Given the description of an element on the screen output the (x, y) to click on. 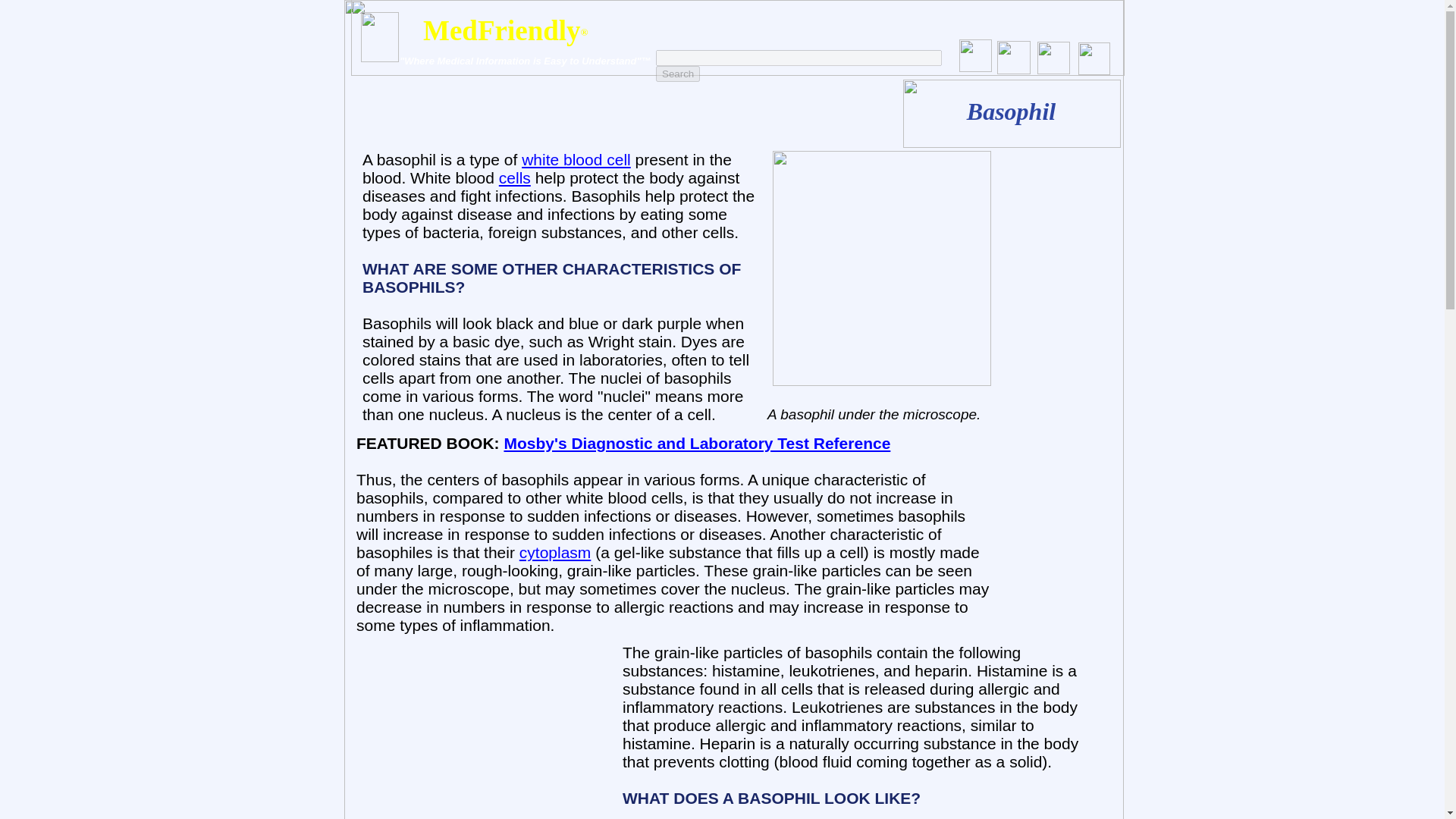
cytoplasm (555, 552)
Mosby's Diagnostic and Laboratory Test Reference (696, 443)
cells (515, 177)
white blood cell (575, 159)
Search (678, 73)
Search (678, 73)
